Given the description of an element on the screen output the (x, y) to click on. 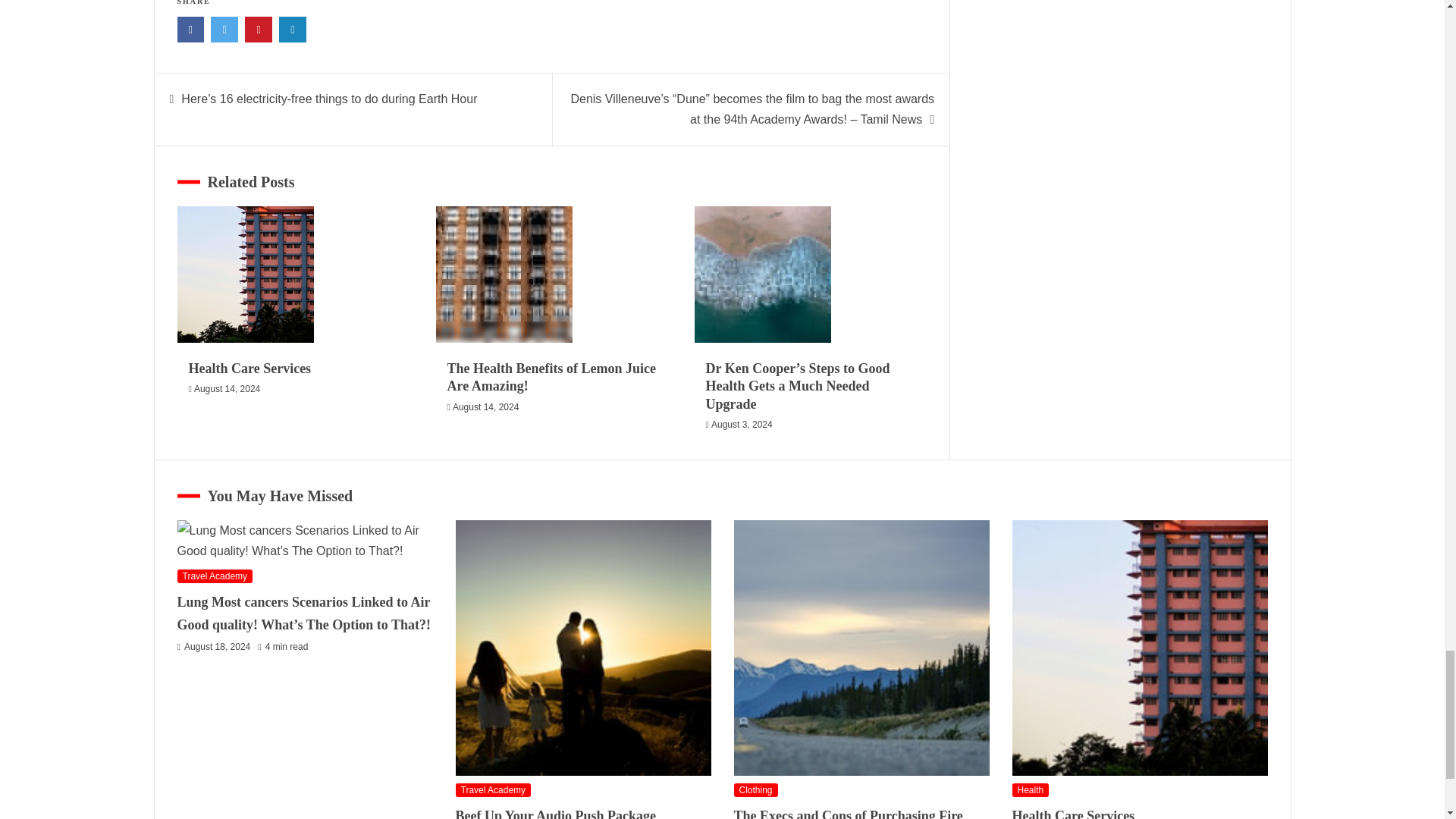
Beef Up Your Audio Push Package (582, 647)
The Health Benefits of Lemon Juice Are Amazing! (503, 274)
Health Care Services (1138, 647)
Health Care Services (245, 274)
